Given the description of an element on the screen output the (x, y) to click on. 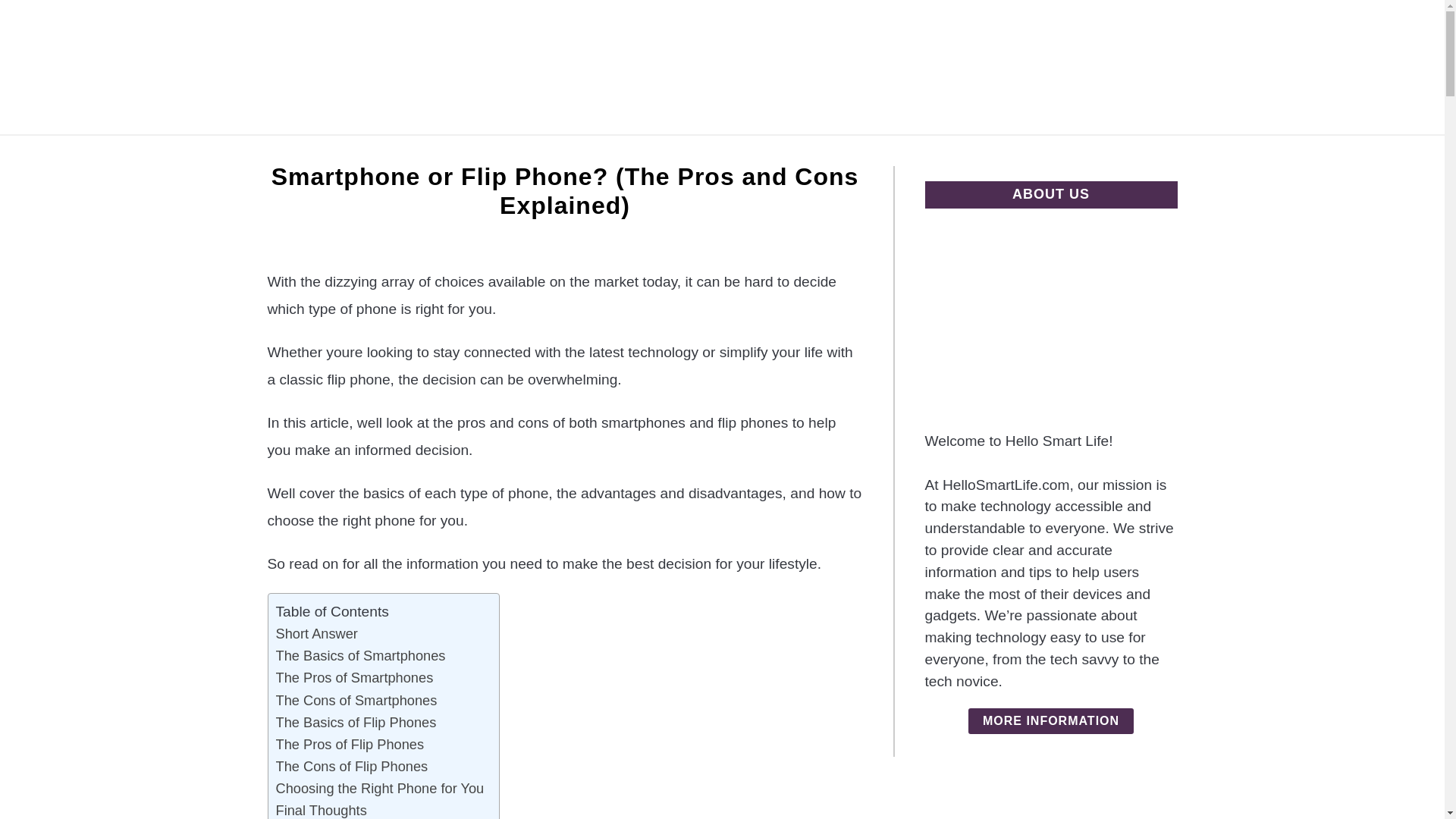
SMARTWATCHES (713, 152)
The Cons of Smartphones (357, 699)
The Basics of Smartphones (360, 655)
The Cons of Flip Phones (352, 766)
The Cons of Flip Phones (352, 766)
SMART HOME (579, 152)
Final Thoughts (321, 809)
The Pros of Smartphones (354, 677)
Choosing the Right Phone for You (380, 788)
Short Answer (317, 633)
